Given the description of an element on the screen output the (x, y) to click on. 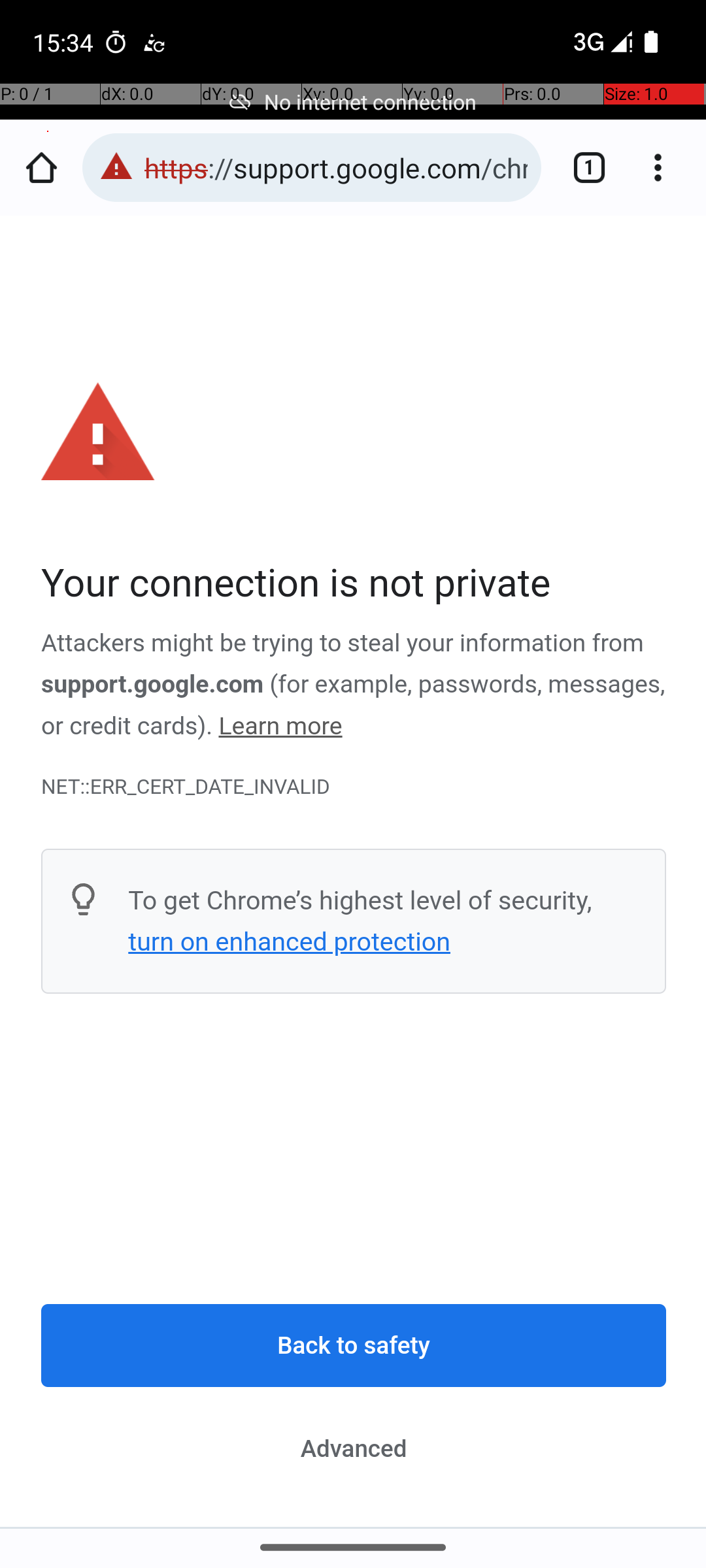
https://support.google.com/chrome/?p=new_tab Element type: android.widget.EditText (335, 167)
support.google.com Element type: android.widget.TextView (152, 684)
